Given the description of an element on the screen output the (x, y) to click on. 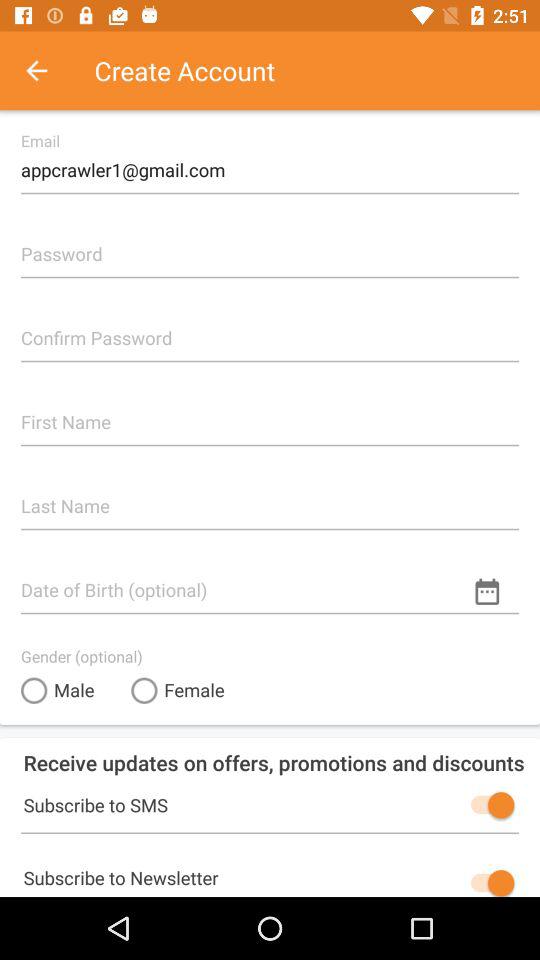
type in date of birth in this box (270, 581)
